Given the description of an element on the screen output the (x, y) to click on. 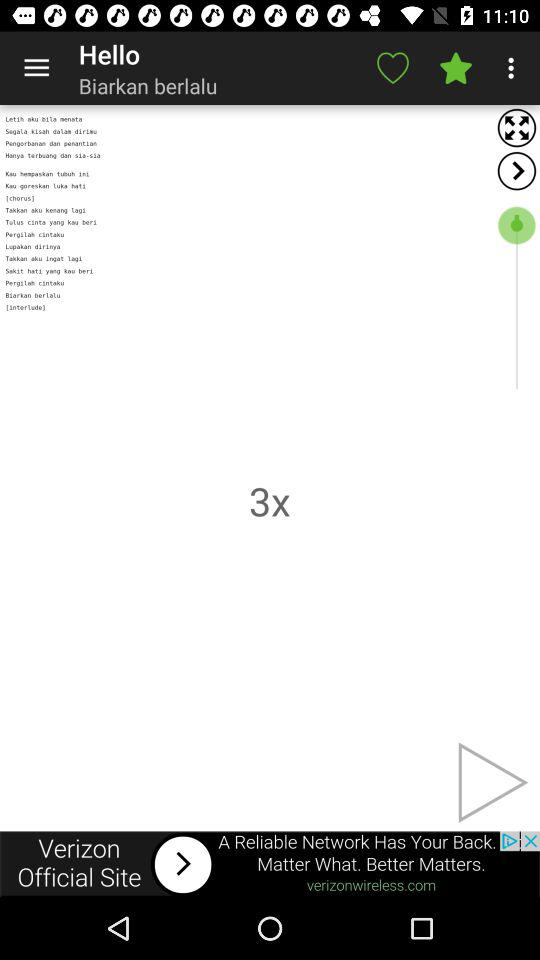
know about the information (270, 864)
